Given the description of an element on the screen output the (x, y) to click on. 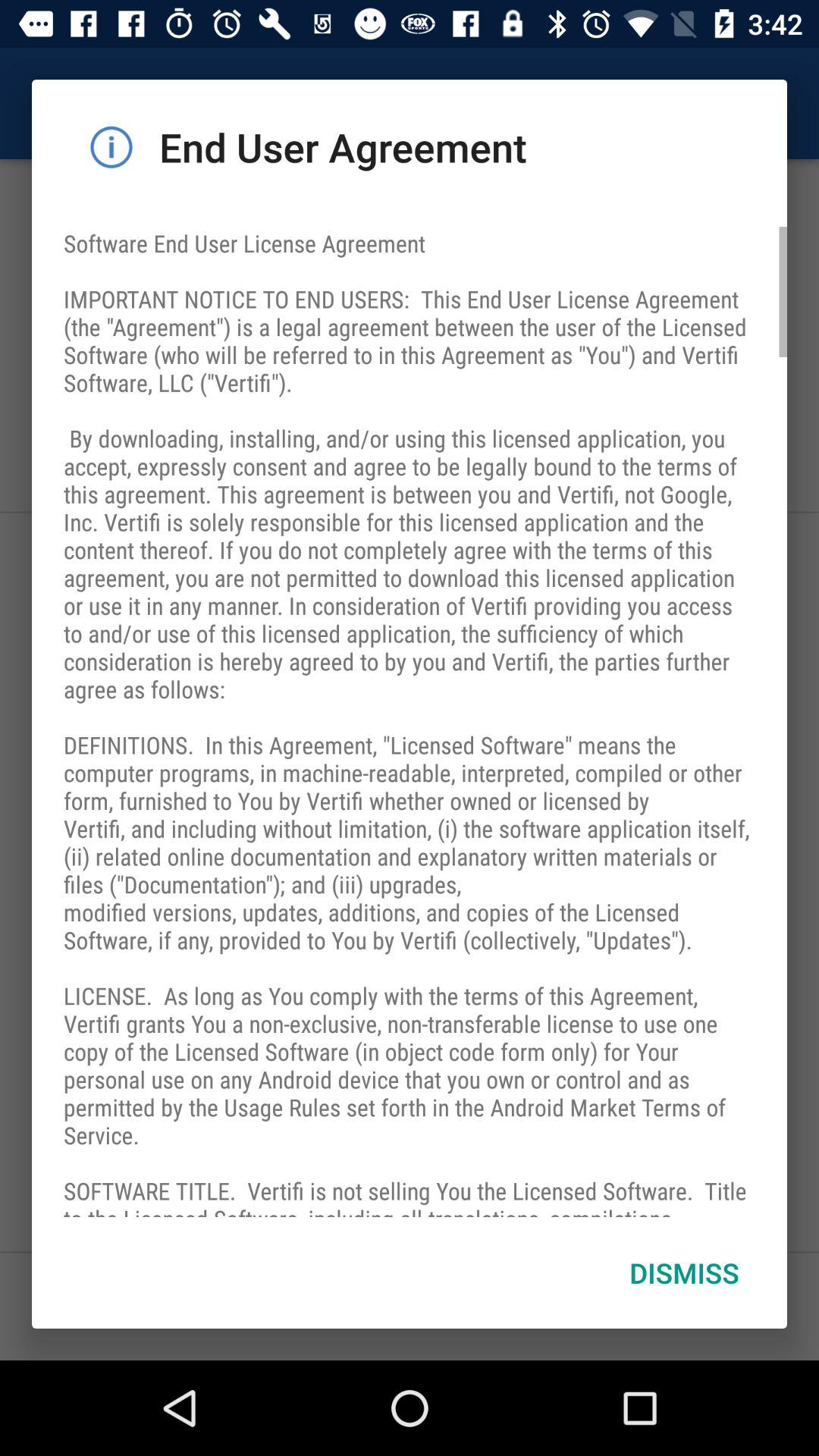
turn on item at the bottom right corner (684, 1272)
